Given the description of an element on the screen output the (x, y) to click on. 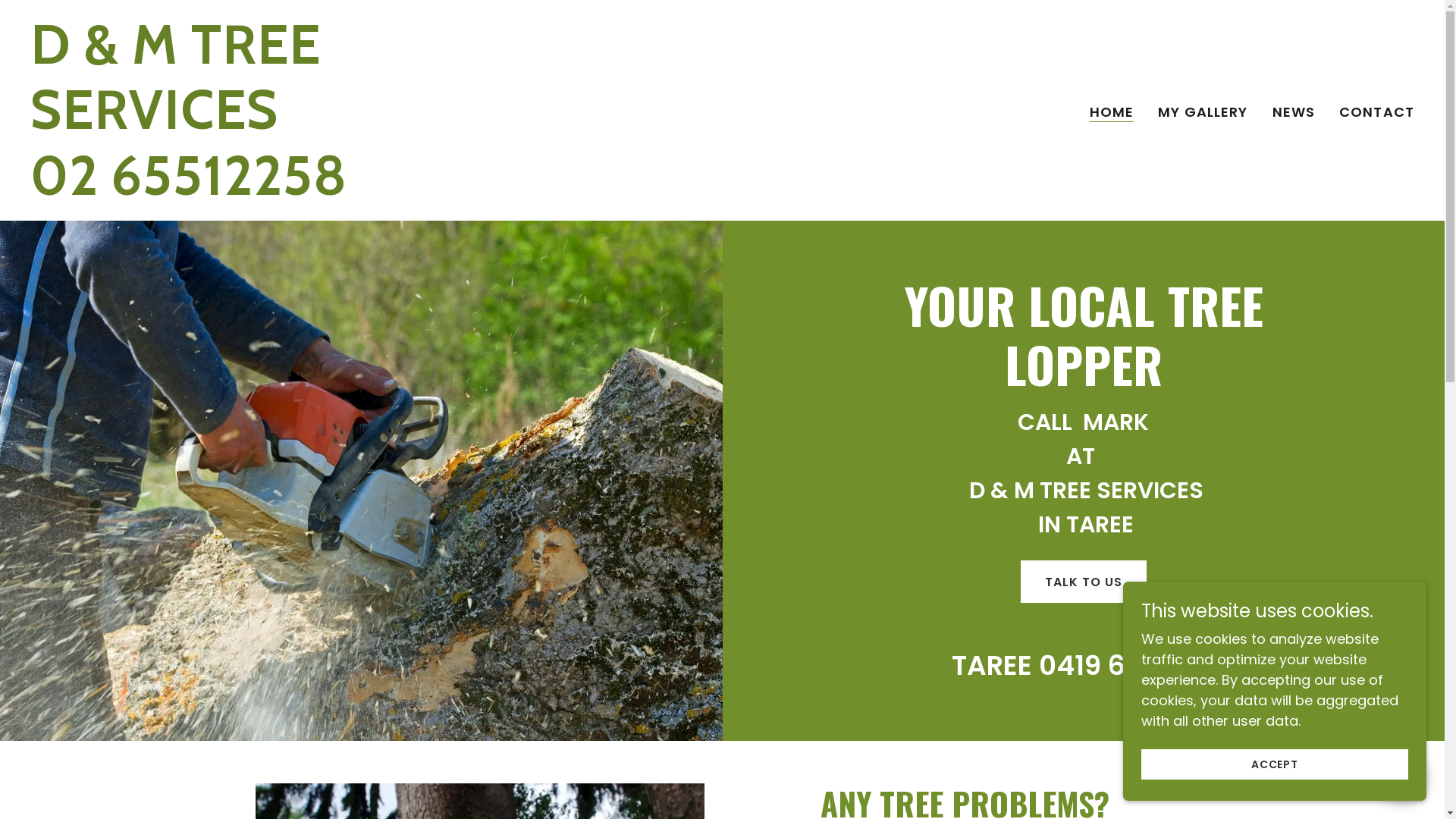
0419 625 920 Element type: text (1126, 665)
NEWS Element type: text (1293, 111)
CONTACT Element type: text (1376, 111)
HOME Element type: text (1111, 112)
ACCEPT Element type: text (1274, 764)
D & M TREE
SERVICES
02 65512258 Element type: text (272, 189)
TALK TO US Element type: text (1083, 581)
MY GALLERY Element type: text (1202, 111)
